Given the description of an element on the screen output the (x, y) to click on. 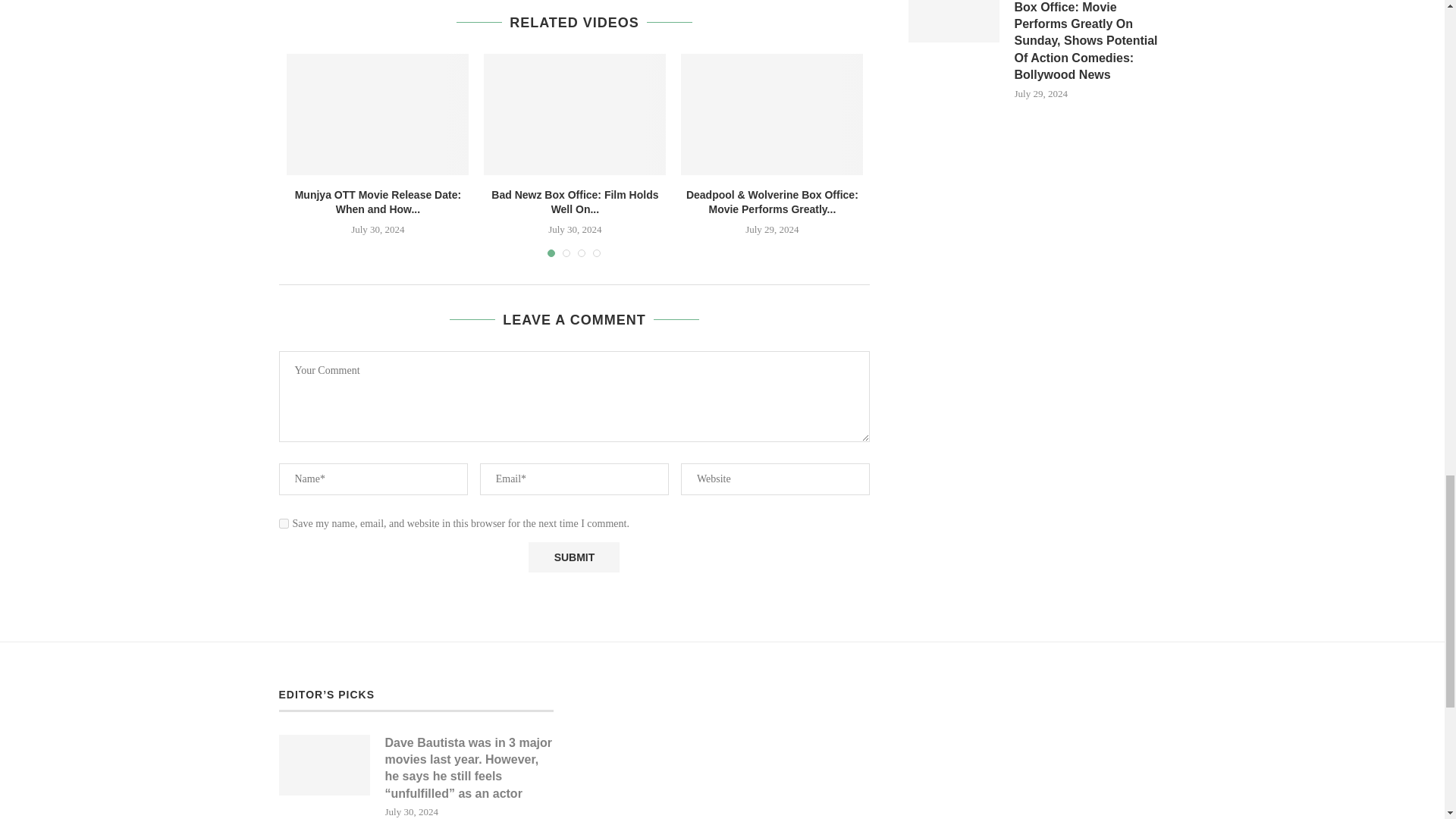
Submit (574, 557)
Munjya OTT Movie Release Date: When and How... (378, 202)
Bad Newz Box Office: Film Holds Well On... (575, 202)
yes (283, 523)
